Given the description of an element on the screen output the (x, y) to click on. 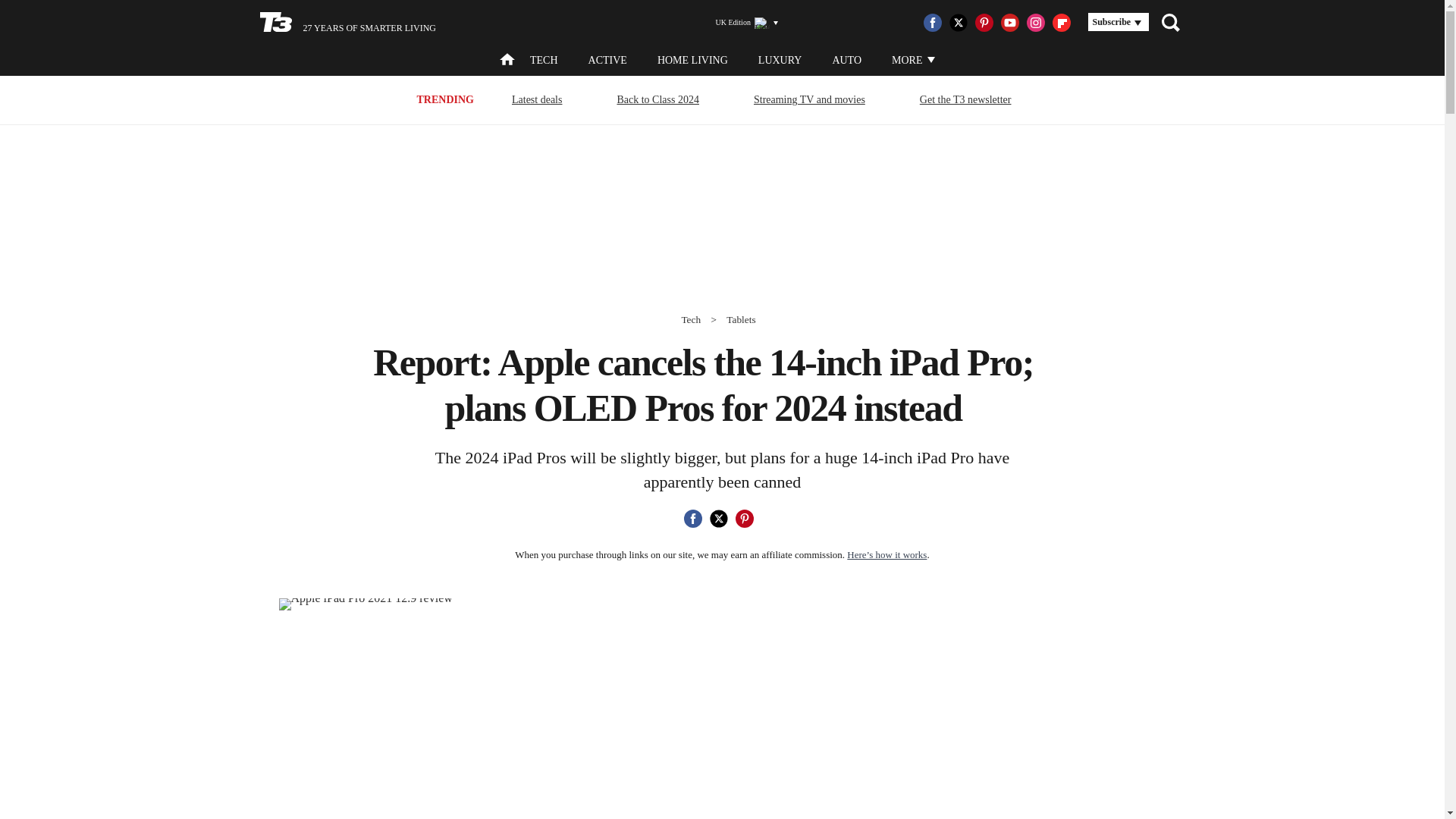
AUTO (846, 60)
Streaming TV and movies (809, 99)
LUXURY (780, 60)
ACTIVE (607, 60)
TECH (543, 60)
Latest deals (536, 99)
UK Edition (740, 22)
Back to Class 2024 (657, 99)
27 YEARS OF SMARTER LIVING (347, 23)
HOME LIVING (693, 60)
